Given the description of an element on the screen output the (x, y) to click on. 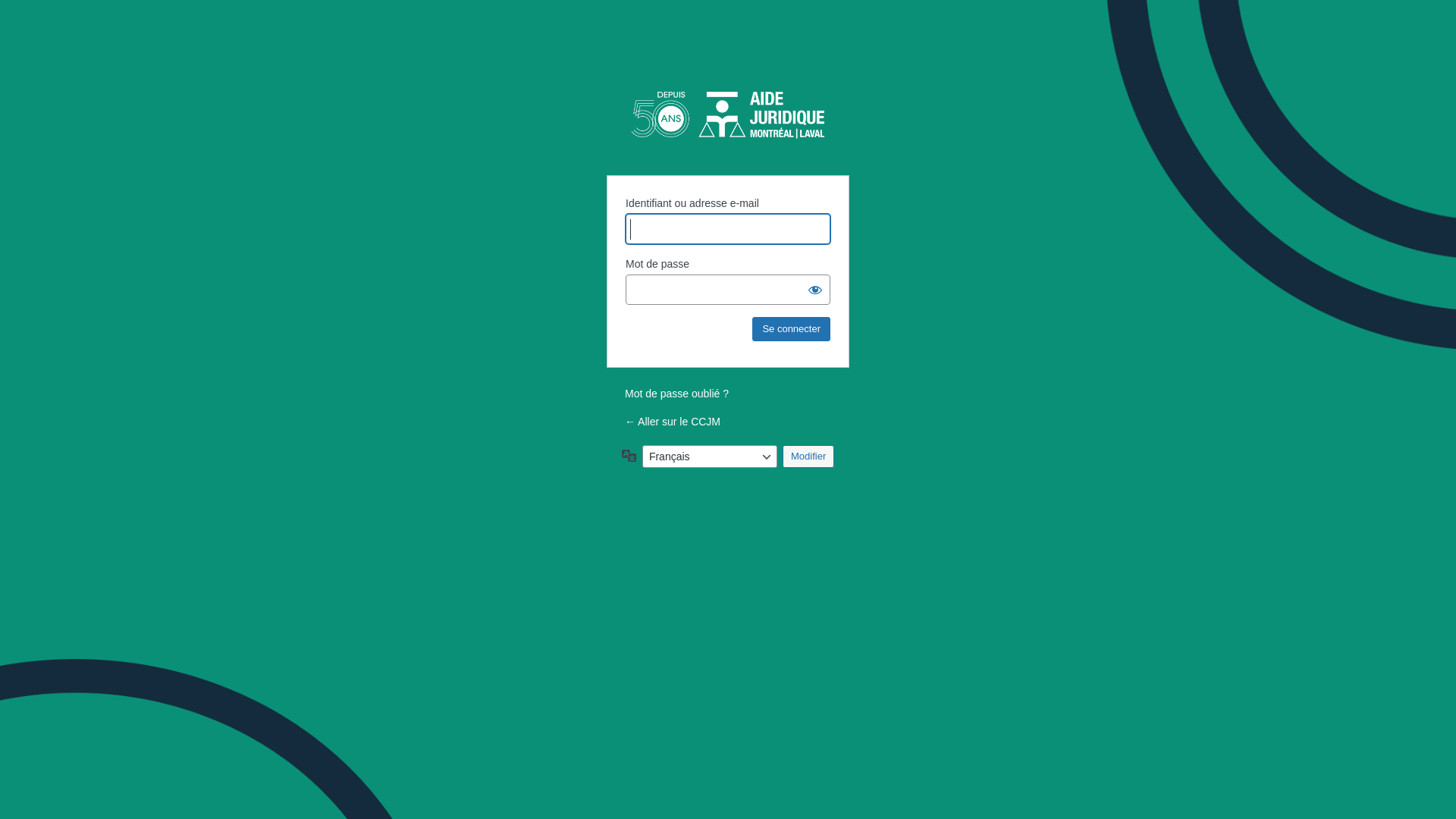
Se connecter Element type: text (791, 328)
Modifier Element type: text (808, 456)
